Given the description of an element on the screen output the (x, y) to click on. 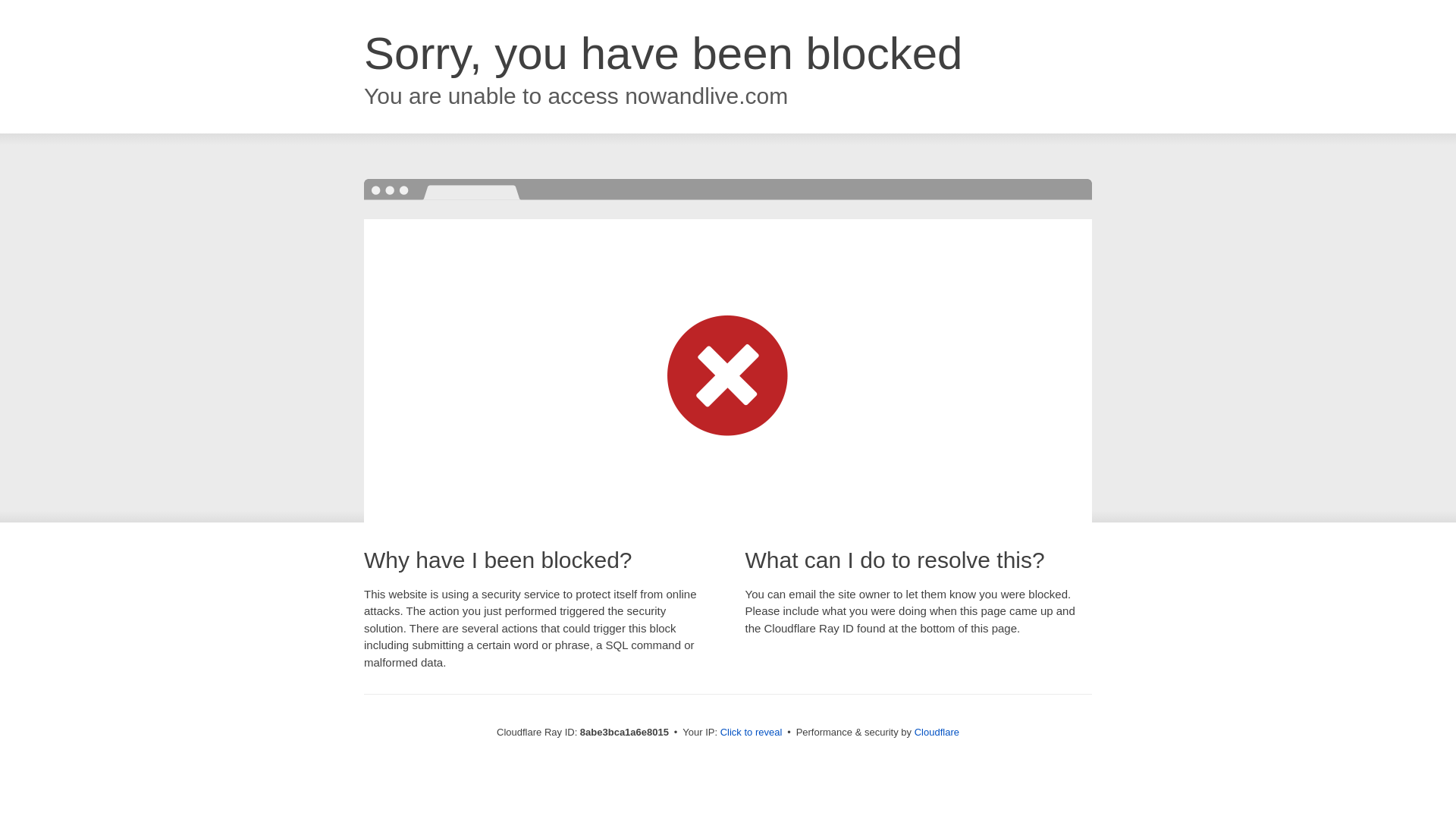
Click to reveal (751, 732)
Cloudflare (936, 731)
